Given the description of an element on the screen output the (x, y) to click on. 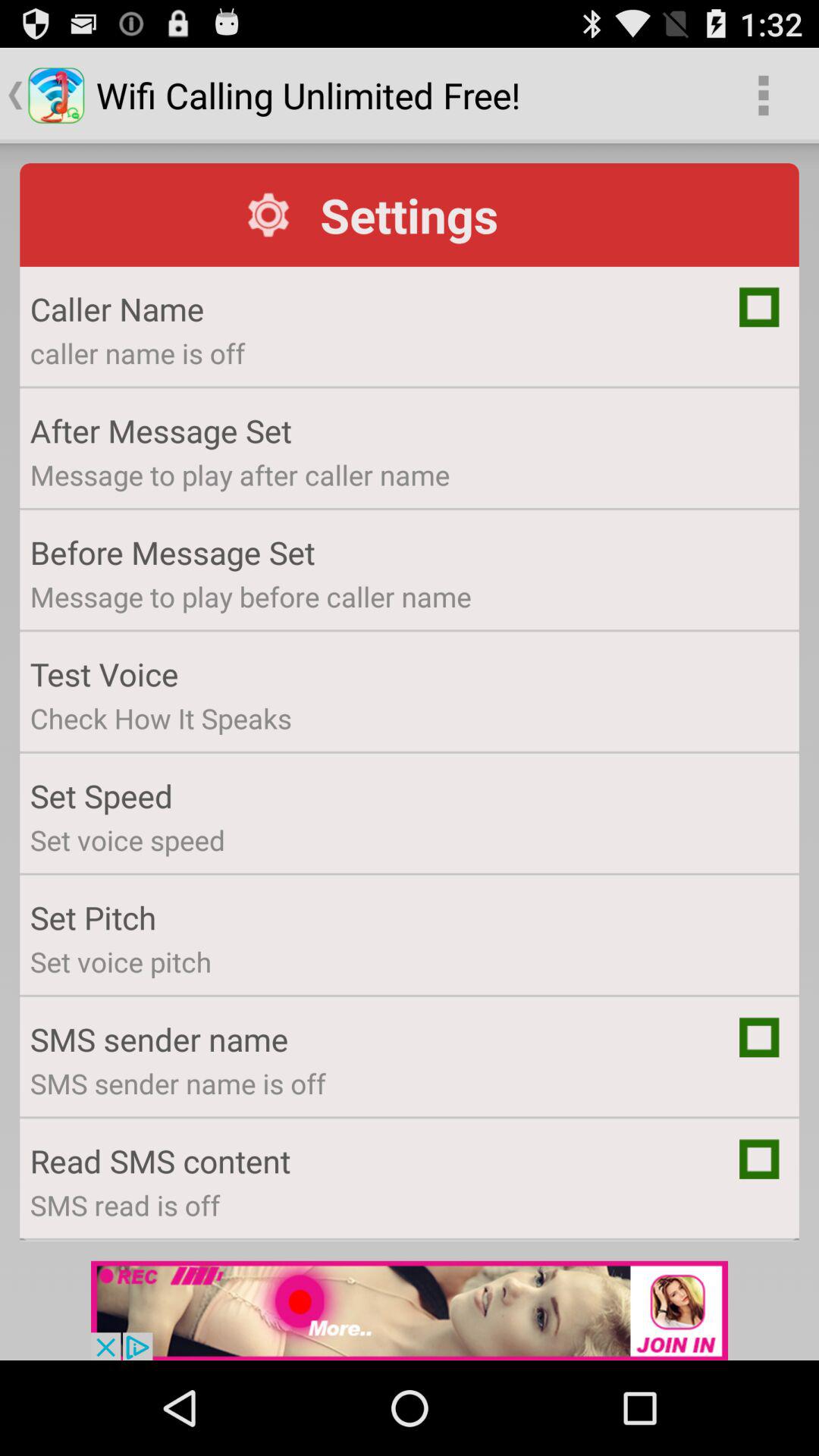
setting toggle (759, 1037)
